Given the description of an element on the screen output the (x, y) to click on. 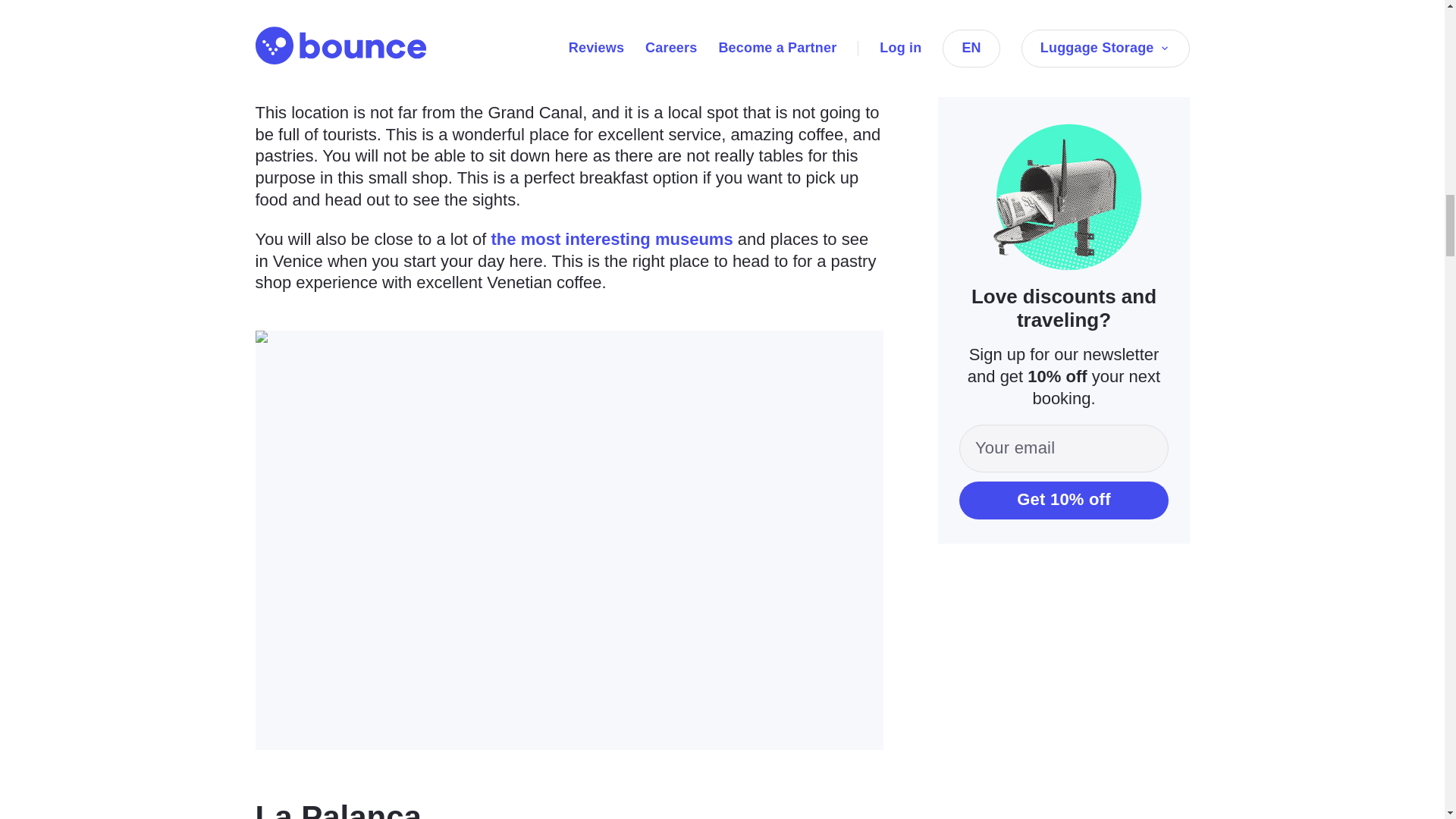
the most interesting museums (612, 239)
